Given the description of an element on the screen output the (x, y) to click on. 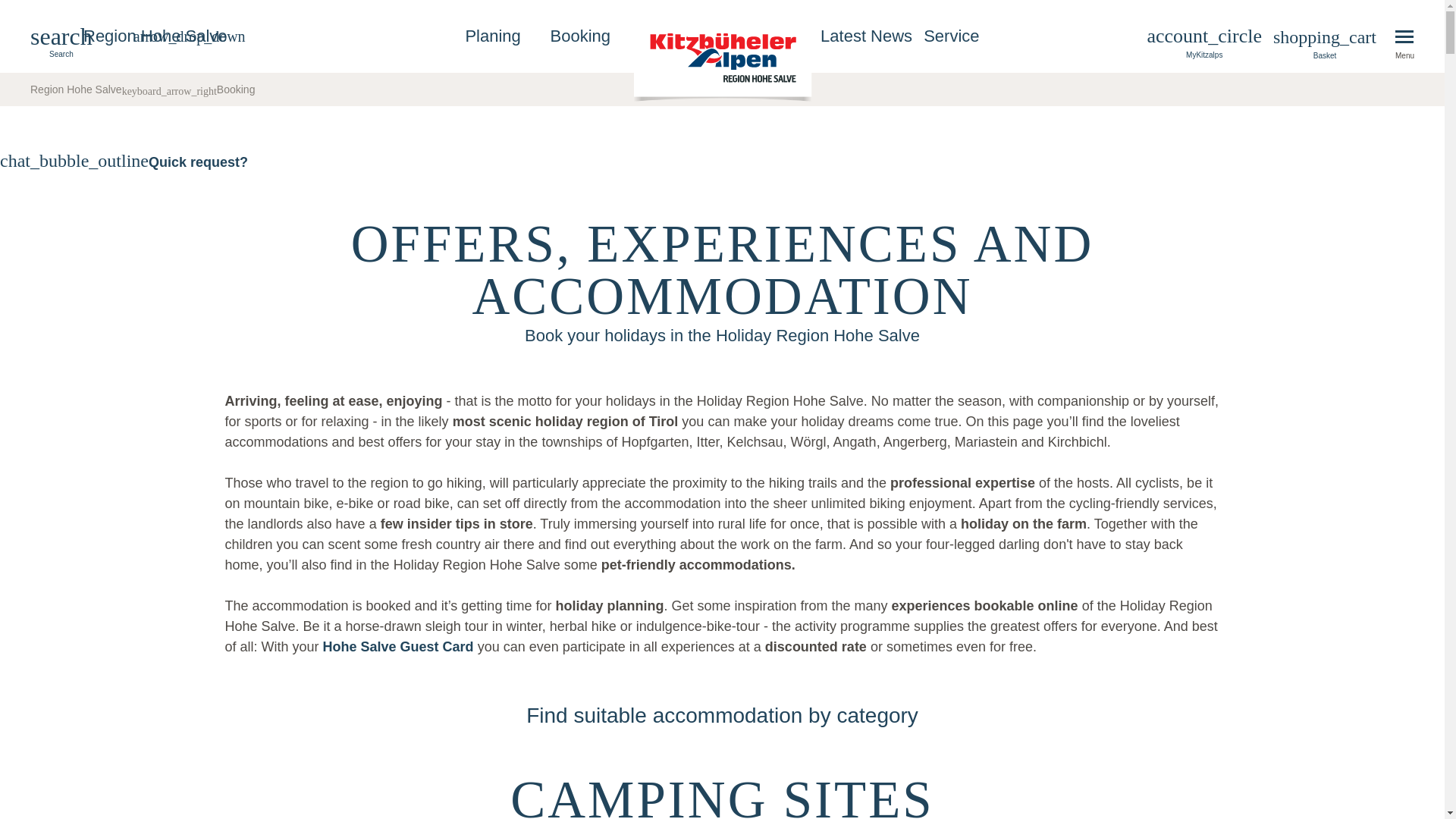
search (61, 41)
Region Hohe Salve (123, 89)
Planing (491, 36)
Hohe Salve Guest Card (398, 646)
Booking (236, 89)
Hohe Salve Guest Card (398, 646)
Service (950, 36)
Latest News (864, 36)
Booking (236, 89)
Booking (580, 36)
